Given the description of an element on the screen output the (x, y) to click on. 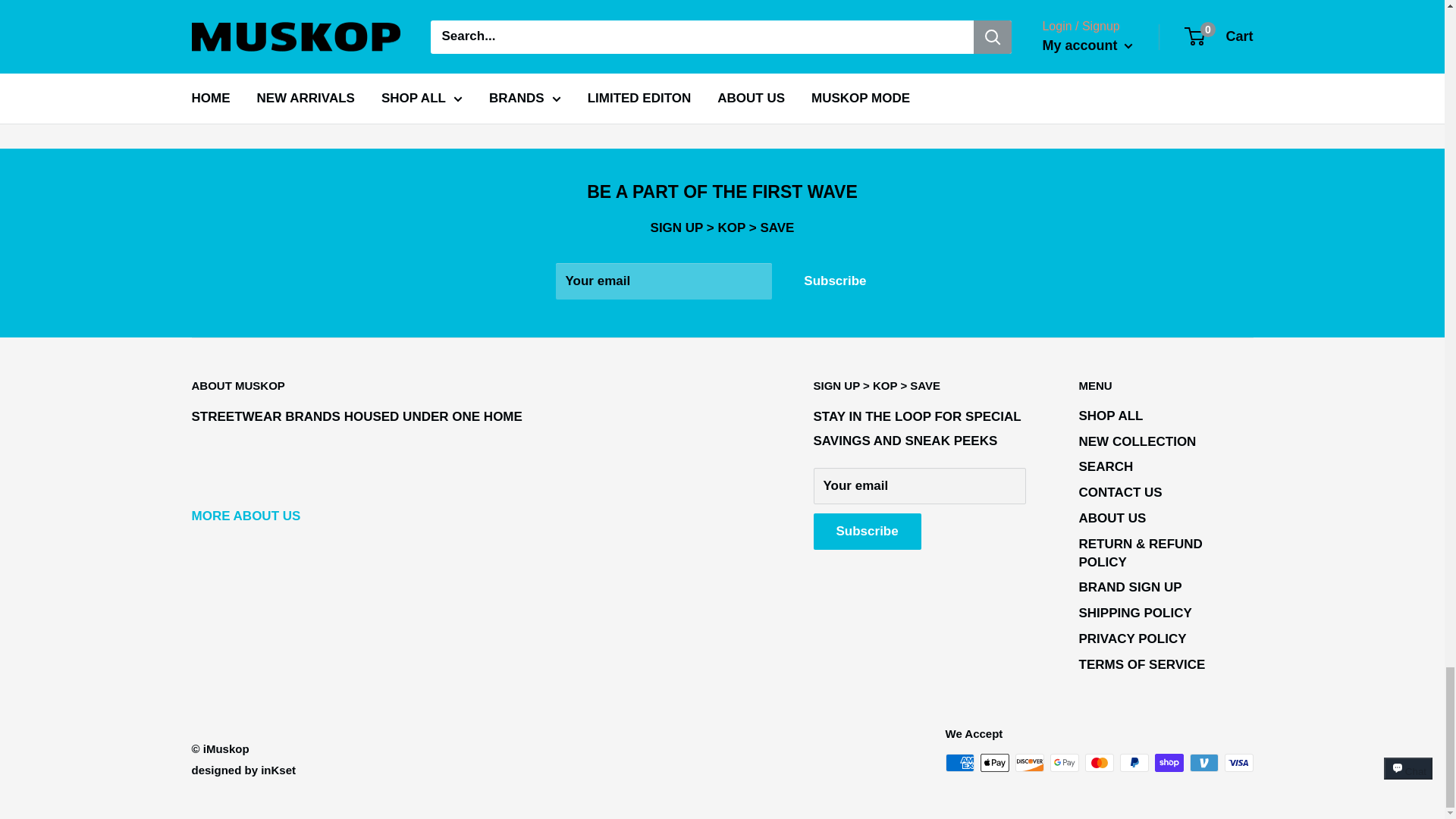
ABOUT US (244, 515)
